Given the description of an element on the screen output the (x, y) to click on. 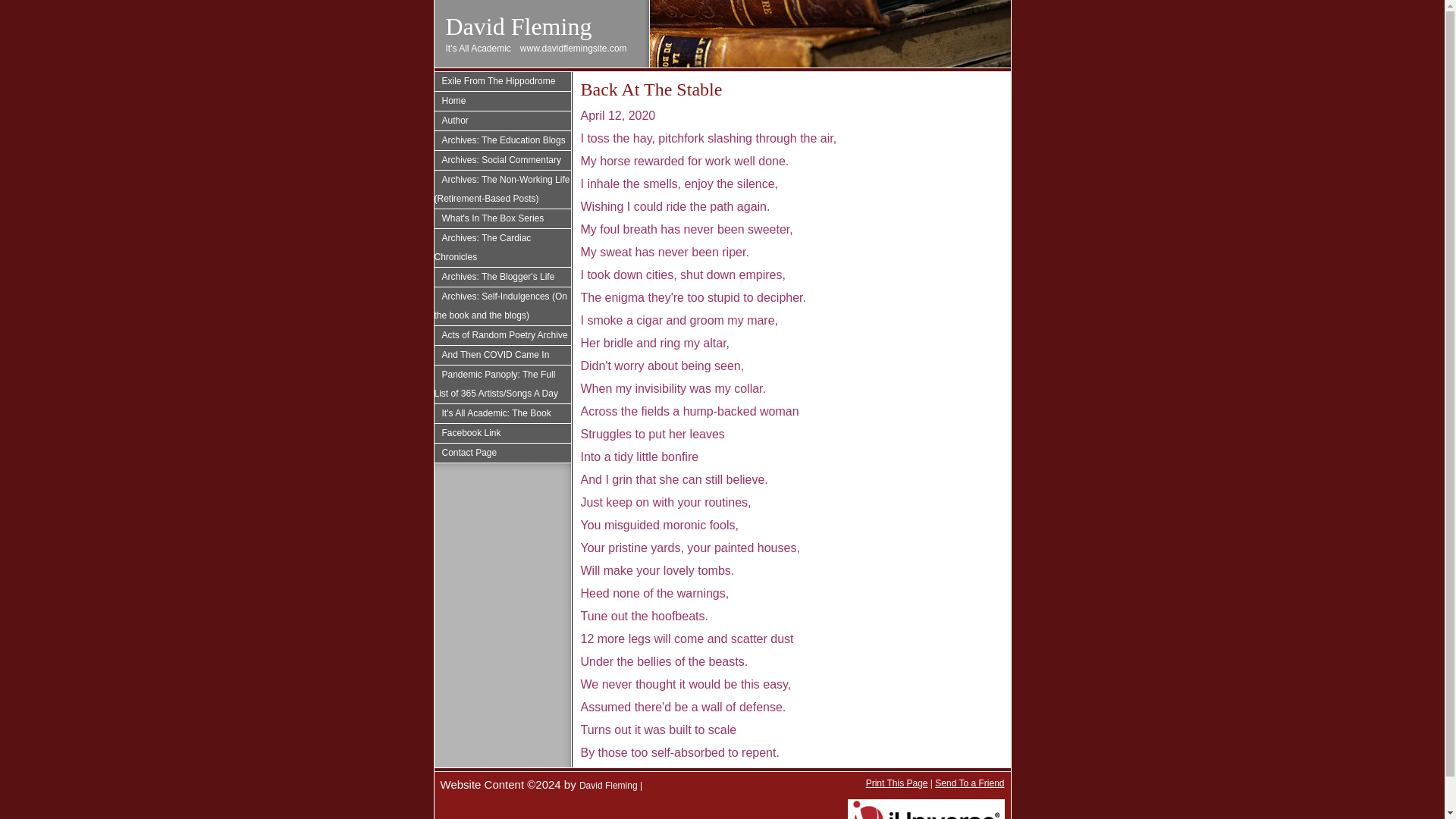
Archives: The Blogger's Life (501, 276)
And Then COVID Came In (501, 354)
Print This Page (897, 783)
Facebook Link (501, 433)
Home (501, 100)
Exile From The Hippodrome (501, 81)
What's In The Box Series (501, 218)
Contact Page (501, 452)
Archives: Social Commentary (501, 159)
Archives: The Education Blogs (501, 140)
